Given the description of an element on the screen output the (x, y) to click on. 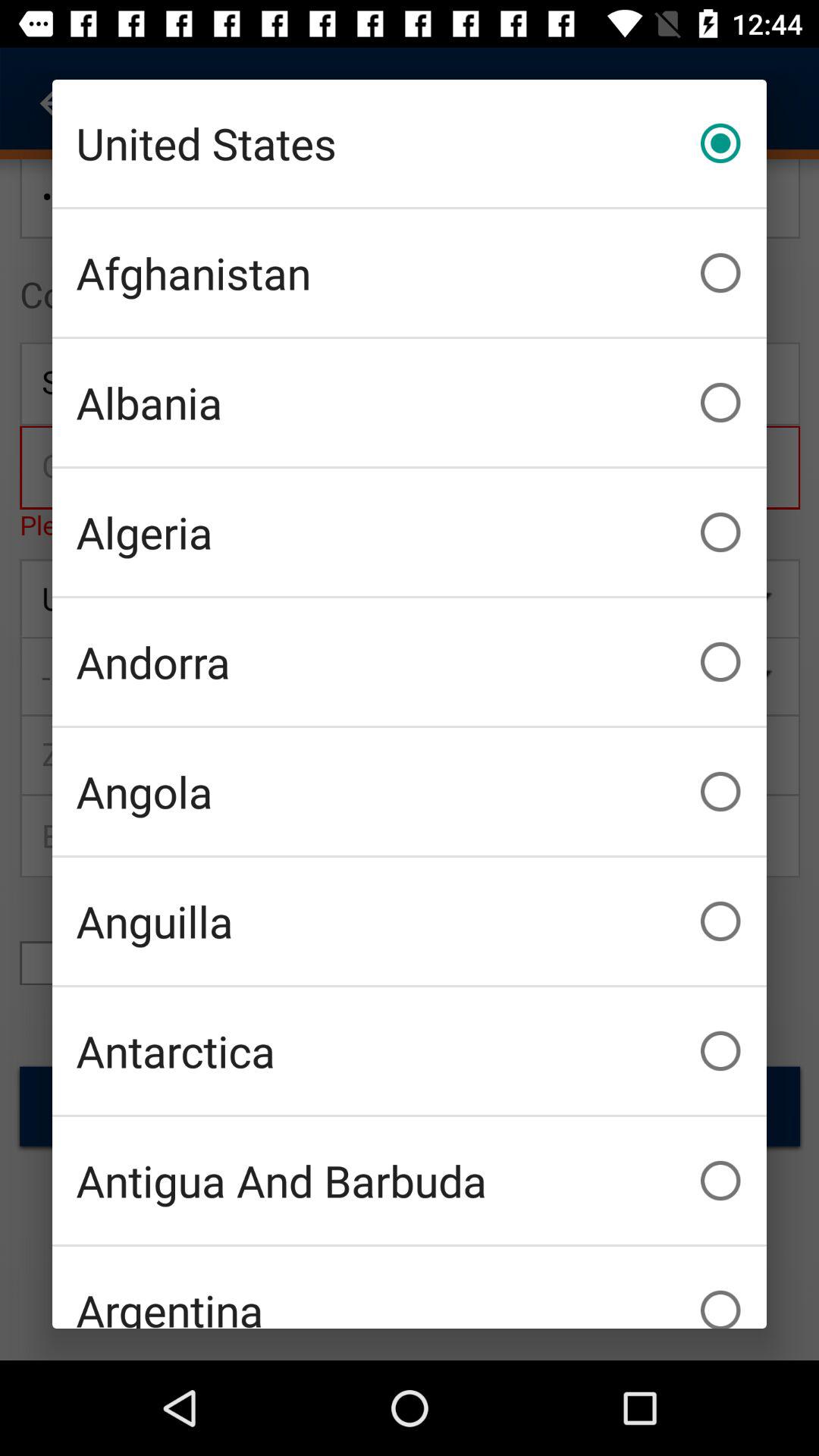
flip until antarctica item (409, 1050)
